Given the description of an element on the screen output the (x, y) to click on. 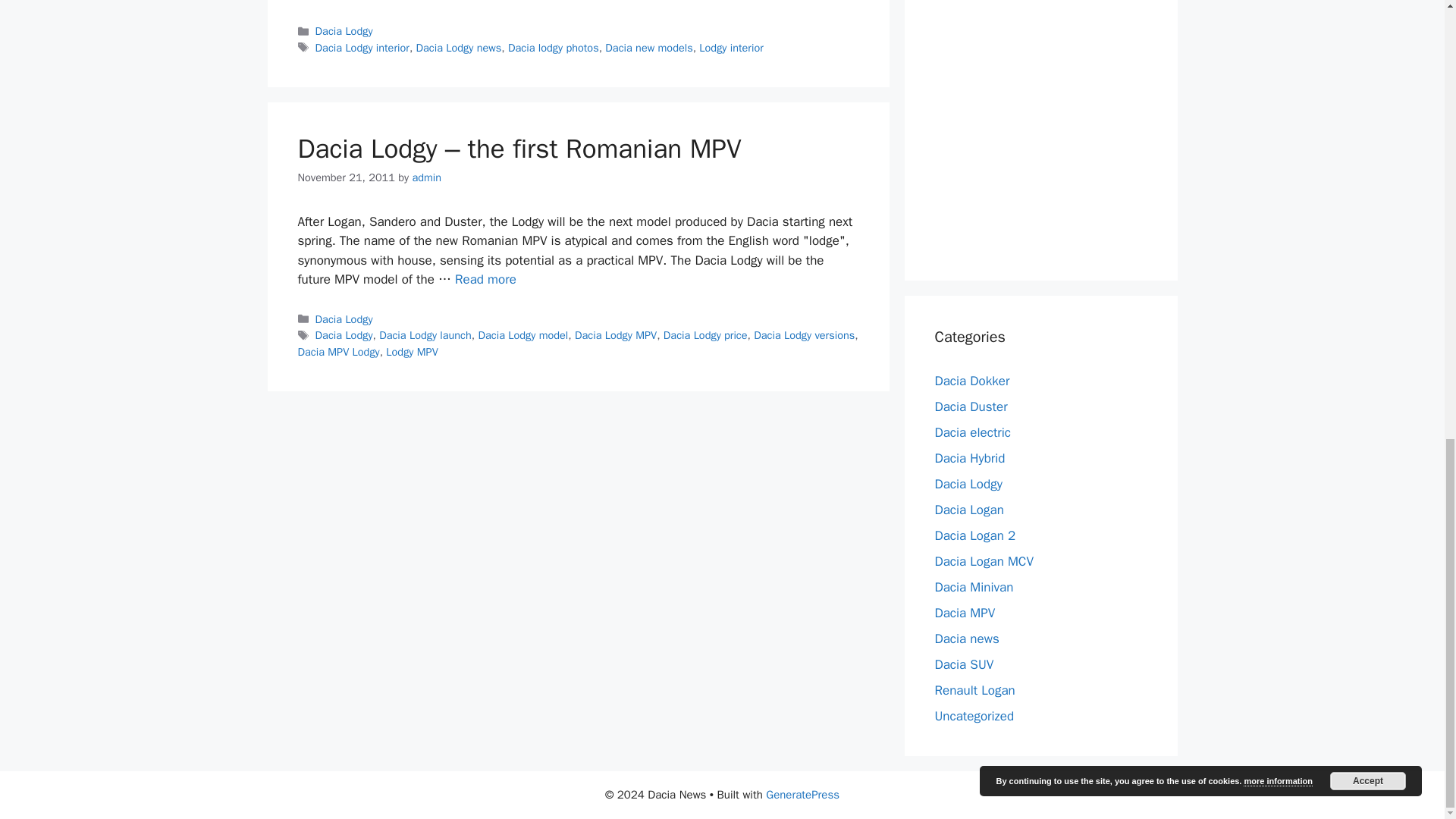
Dacia new models (649, 47)
Dacia Lodgy launch (424, 335)
Lodgy interior (730, 47)
Dacia Lodgy (343, 30)
Dacia Lodgy model (522, 335)
admin (426, 177)
Dacia Lodgy (343, 335)
Dacia Lodgy interior (362, 47)
Read more (485, 279)
Advertisement (1047, 122)
Dacia lodgy photos (553, 47)
View all posts by admin (426, 177)
Dacia Lodgy news (459, 47)
Dacia Lodgy (343, 318)
